Given the description of an element on the screen output the (x, y) to click on. 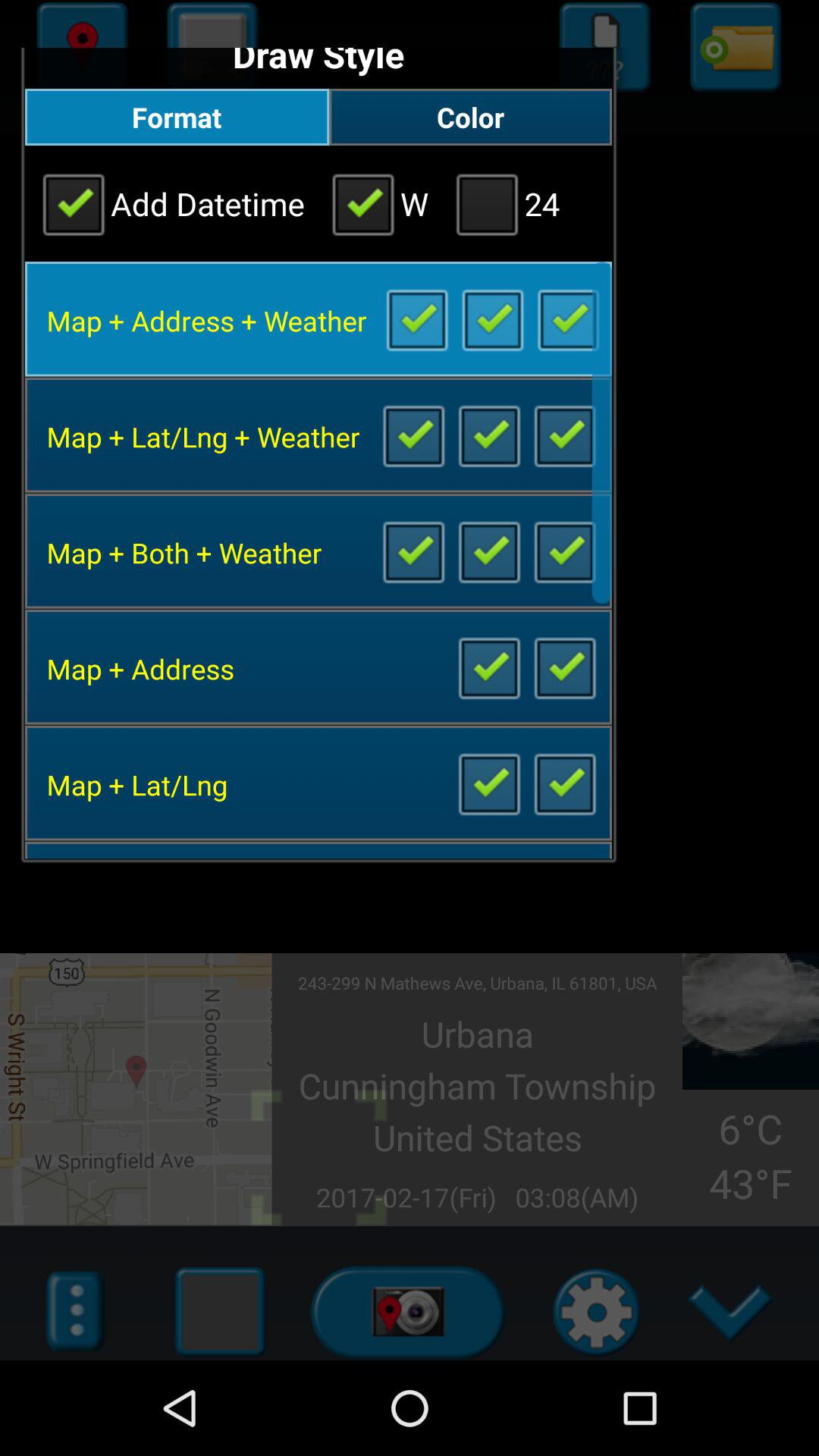
select option (567, 318)
